Given the description of an element on the screen output the (x, y) to click on. 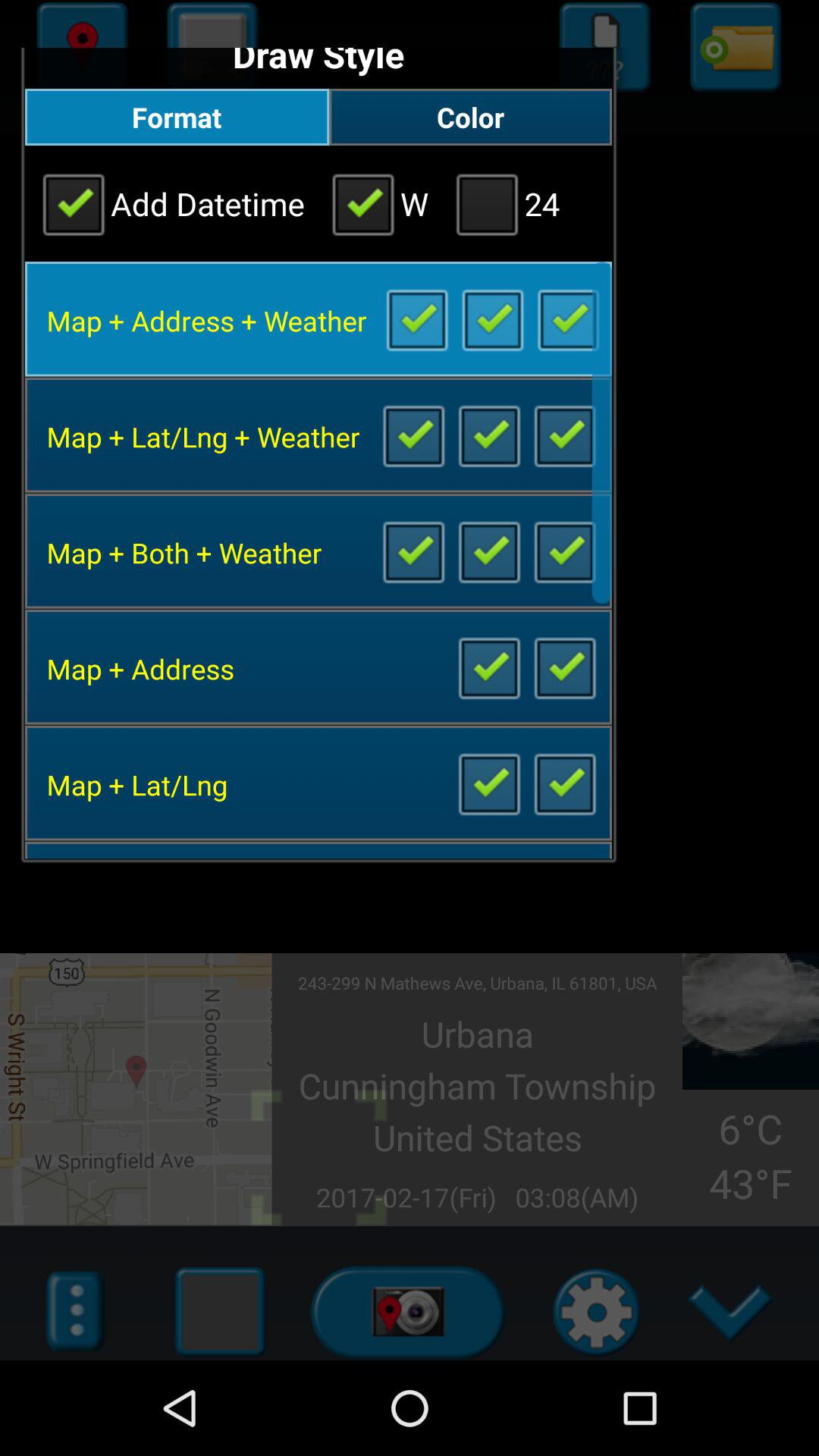
select option (567, 318)
